Given the description of an element on the screen output the (x, y) to click on. 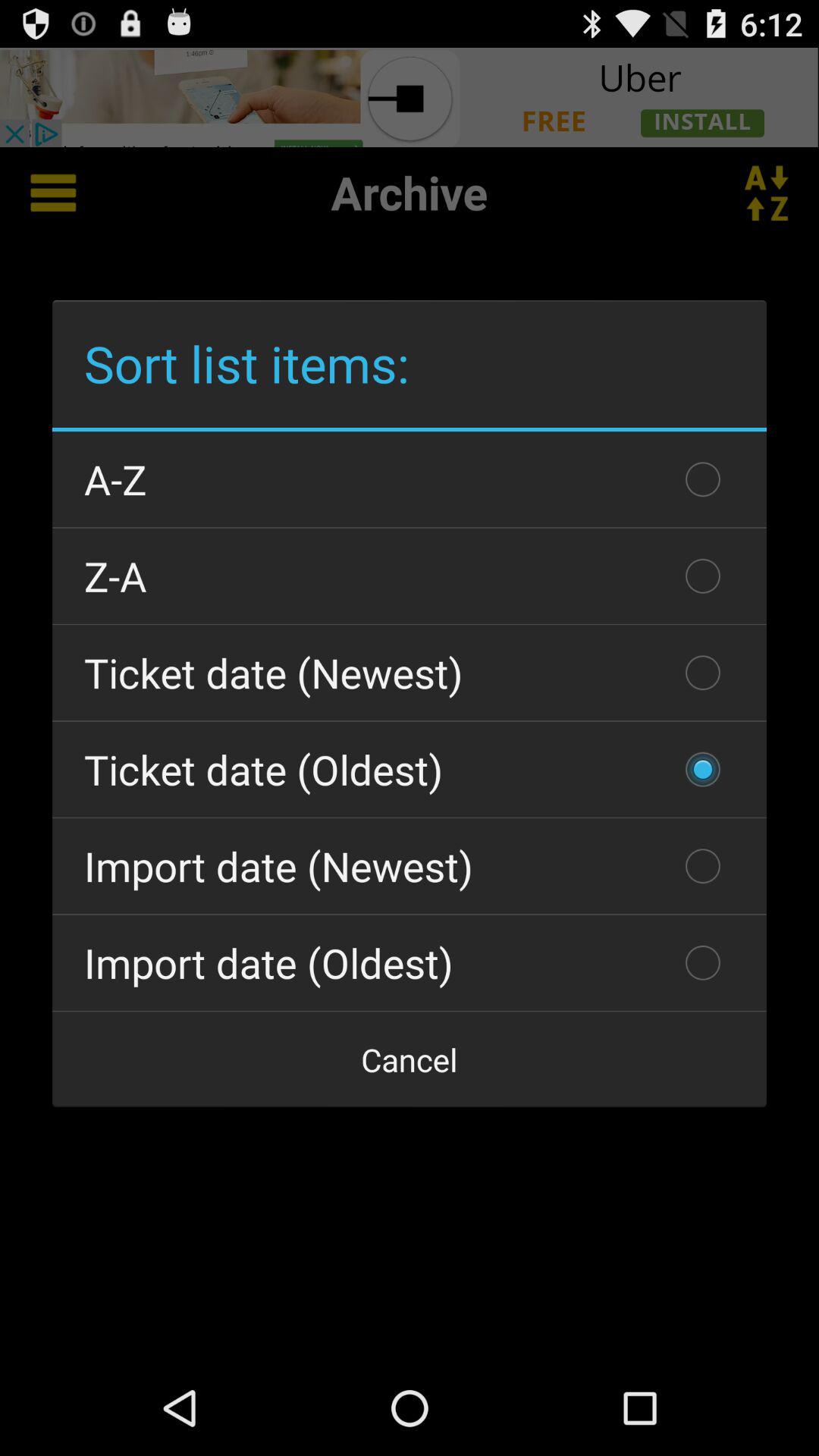
choose cancel button (409, 1059)
